Given the description of an element on the screen output the (x, y) to click on. 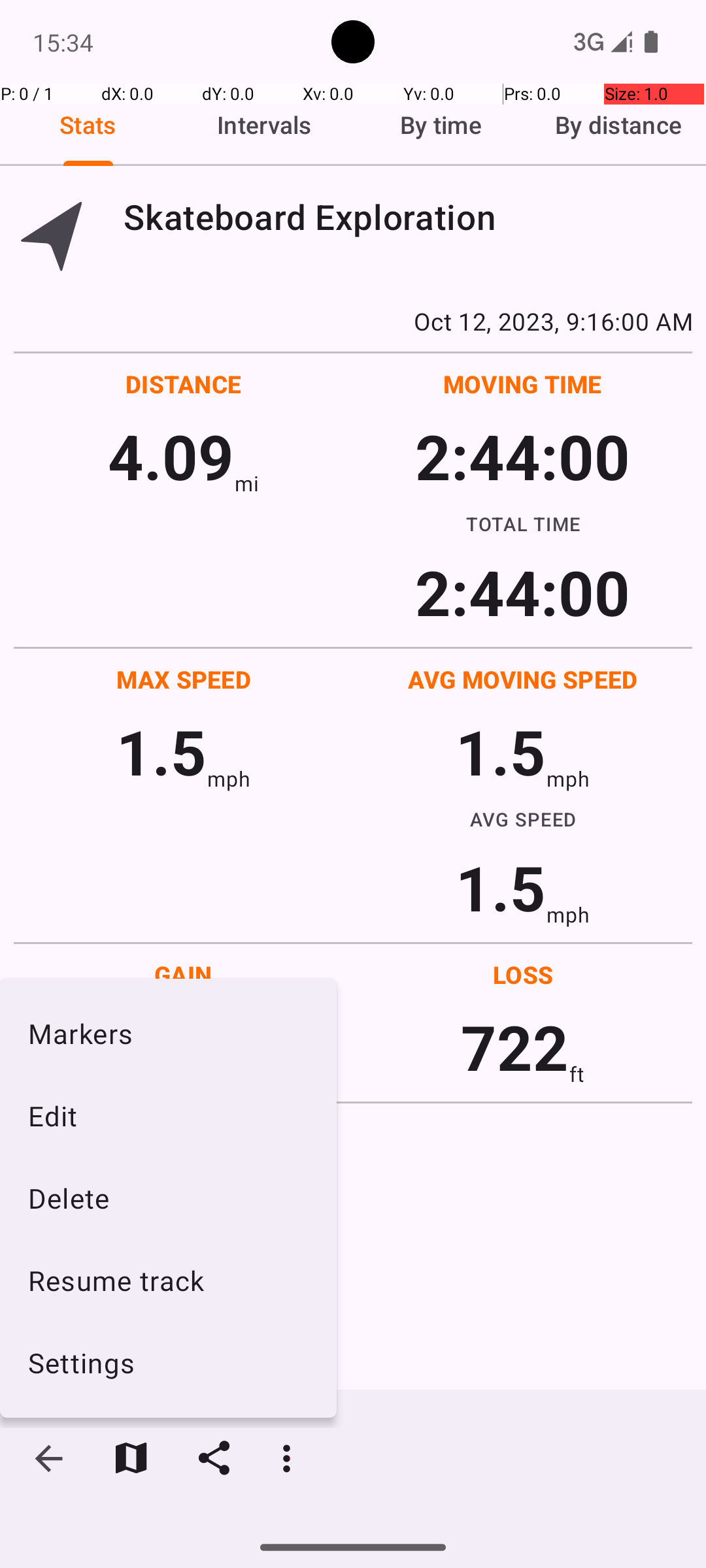
Resume track Element type: android.widget.TextView (168, 1279)
